Given the description of an element on the screen output the (x, y) to click on. 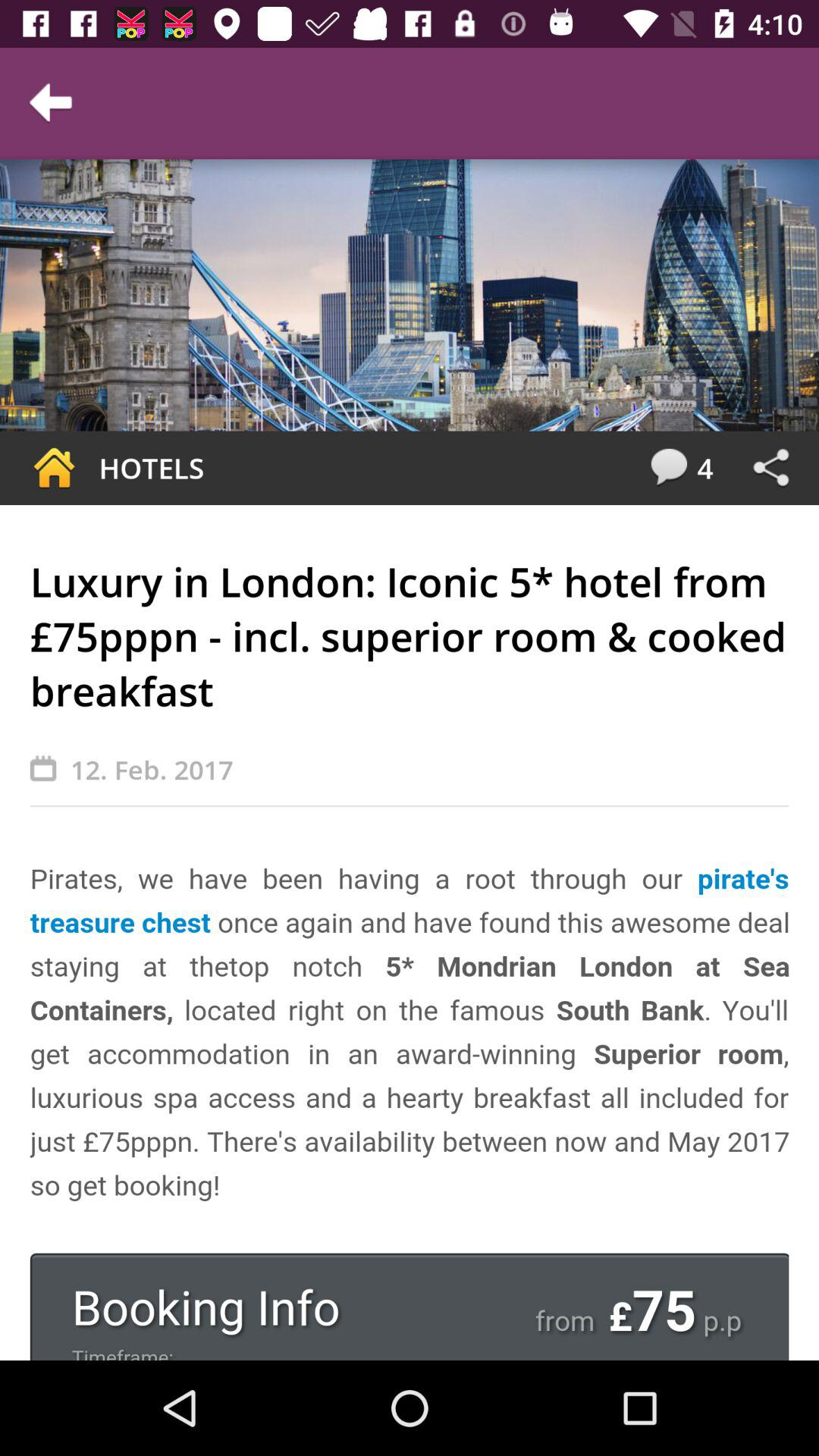
share this listing (770, 468)
